Given the description of an element on the screen output the (x, y) to click on. 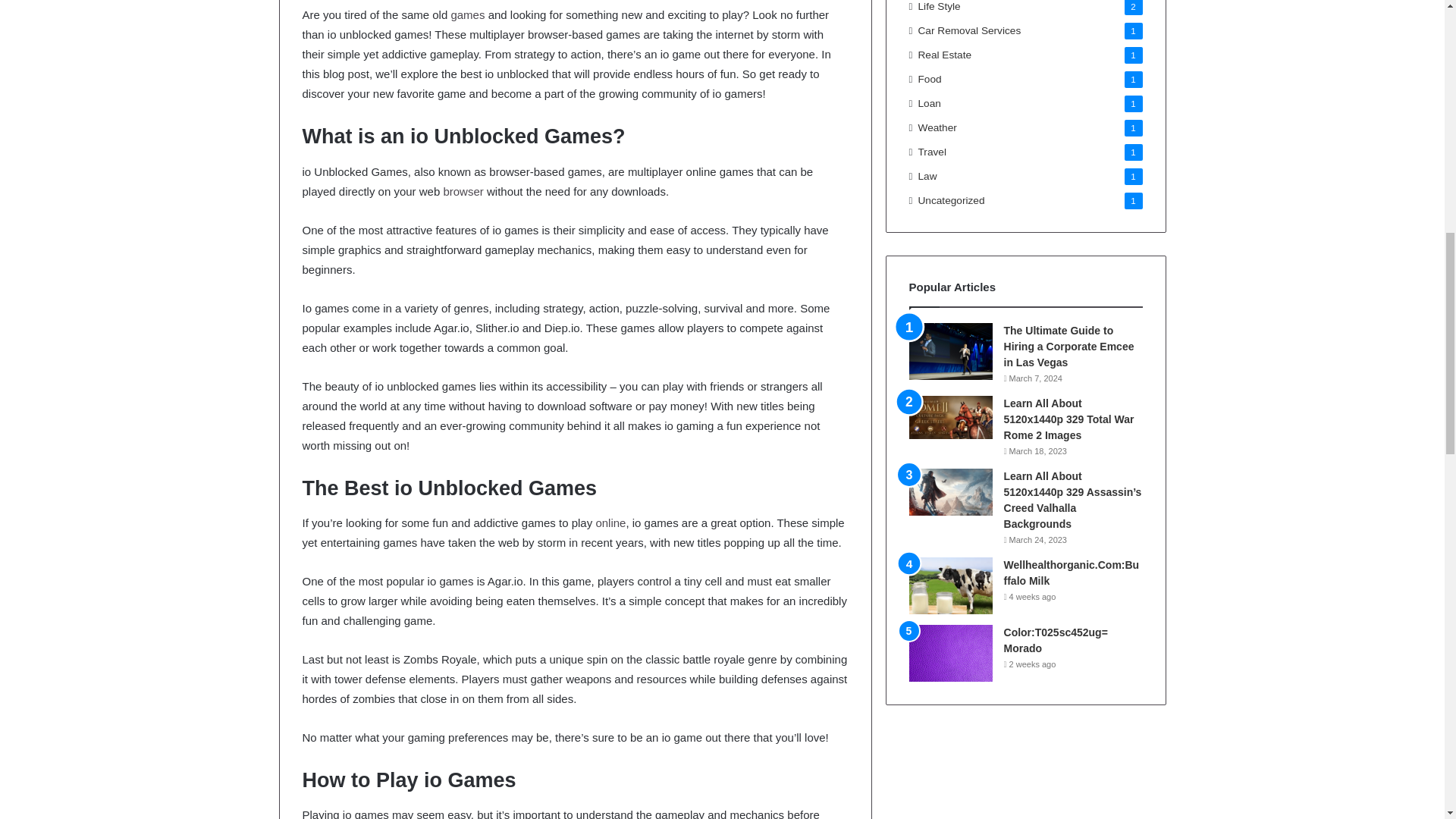
browser (462, 191)
games (466, 14)
online (610, 522)
